Given the description of an element on the screen output the (x, y) to click on. 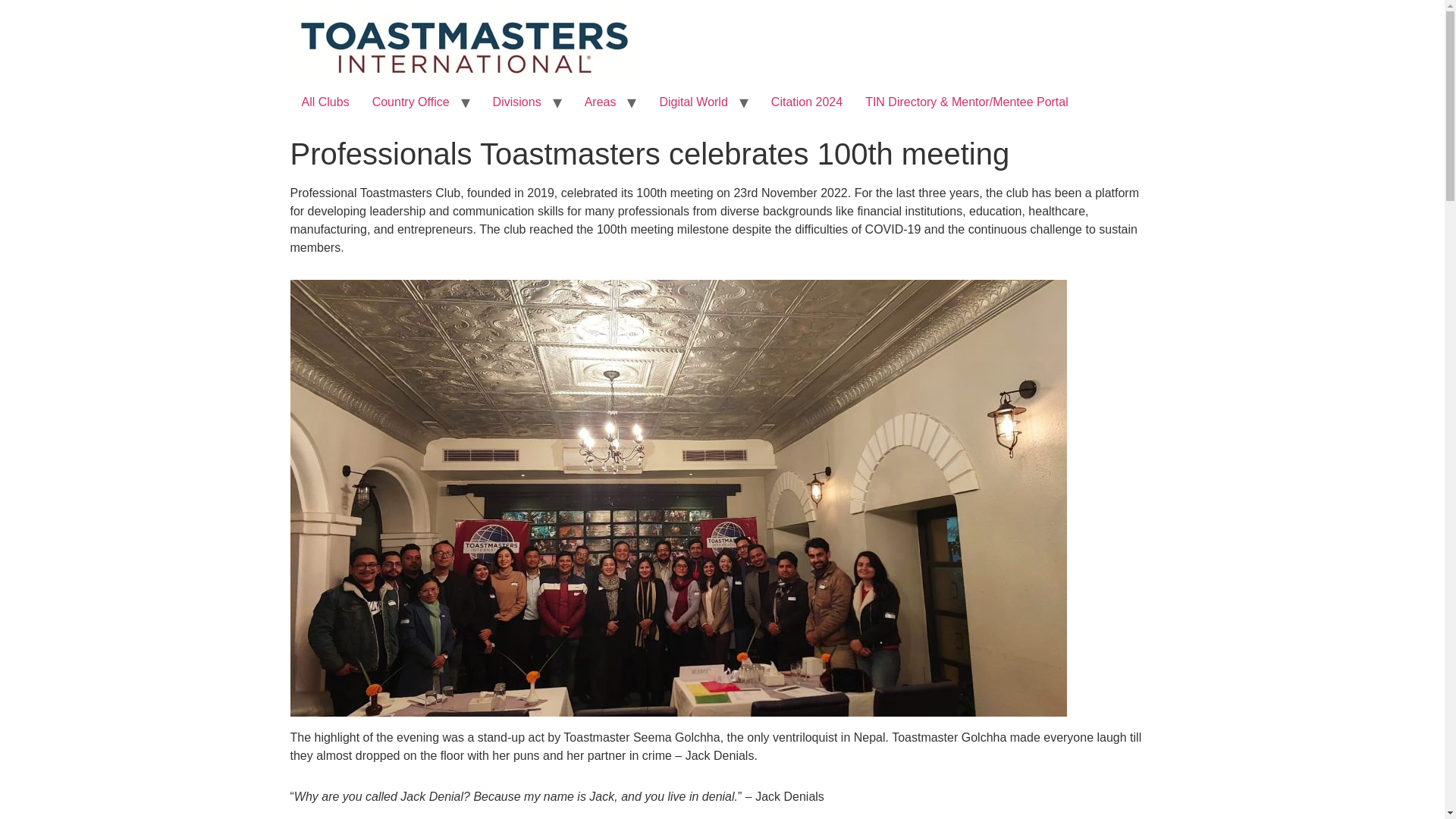
Country Office (411, 101)
Citation 2024 (806, 101)
Areas (600, 101)
Digital World (692, 101)
Divisions (517, 101)
All Clubs (324, 101)
